Given the description of an element on the screen output the (x, y) to click on. 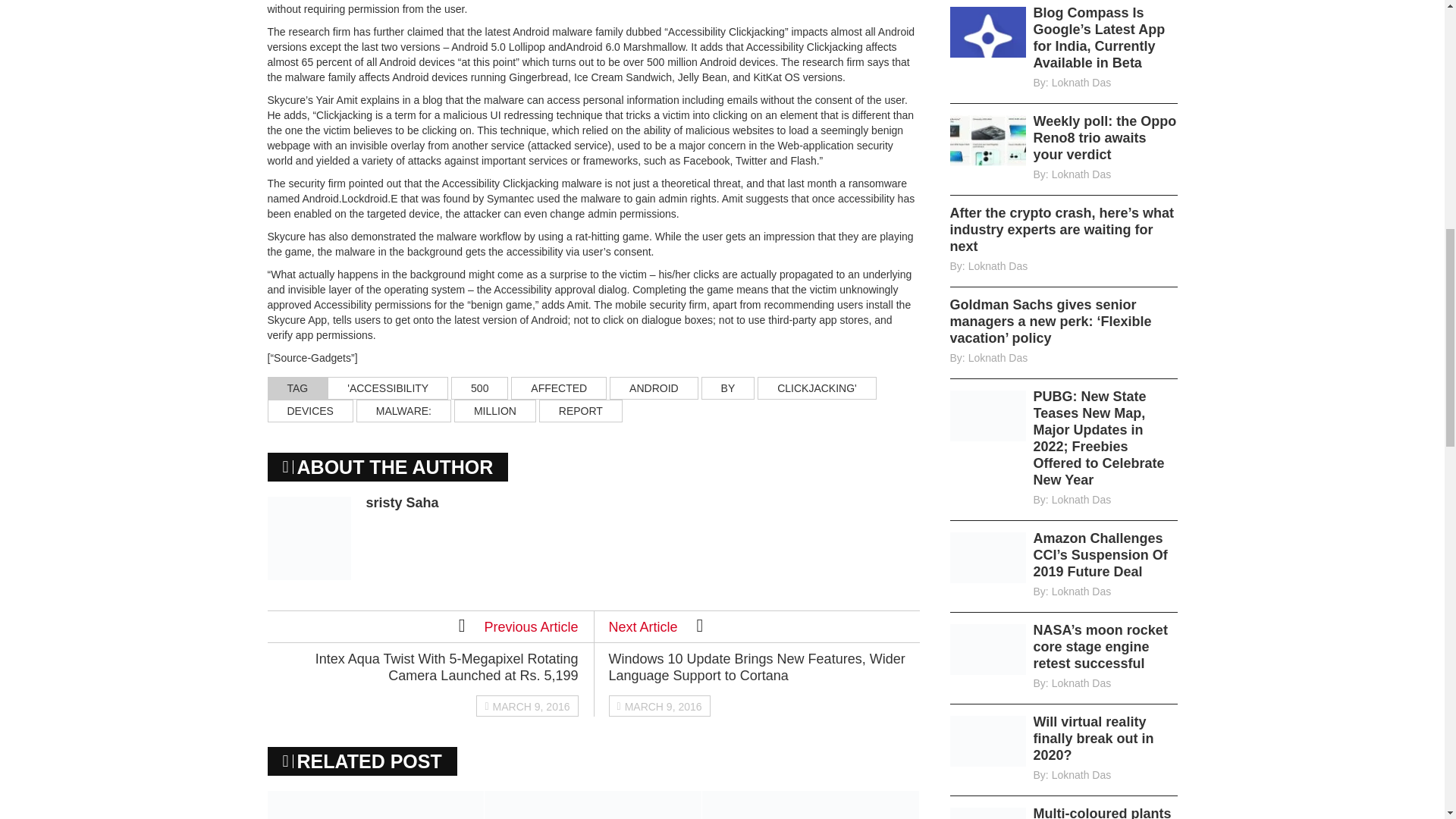
Posts by Loknath Das (1081, 174)
DEVICES (309, 410)
AFFECTED (559, 387)
Posts by Loknath Das (1081, 82)
CLICKJACKING' (816, 387)
REPORT (580, 410)
MILLION (494, 410)
MALWARE: (403, 410)
Posts by Loknath Das (997, 357)
BY (728, 387)
